Given the description of an element on the screen output the (x, y) to click on. 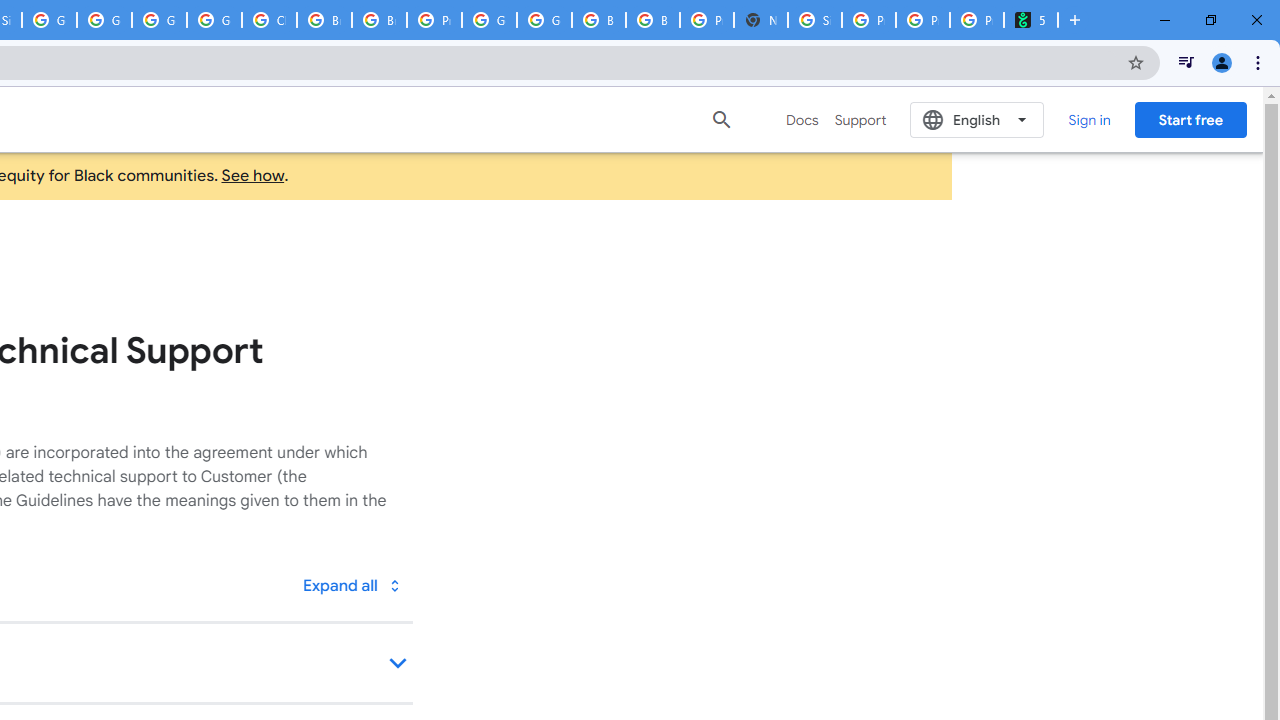
Start free (1190, 119)
Browse Chrome as a guest - Computer - Google Chrome Help (652, 20)
Toggle all (351, 584)
Support (860, 119)
New Tab (760, 20)
Browse Chrome as a guest - Computer - Google Chrome Help (324, 20)
See how (253, 175)
Browse Chrome as a guest - Computer - Google Chrome Help (379, 20)
